Given the description of an element on the screen output the (x, y) to click on. 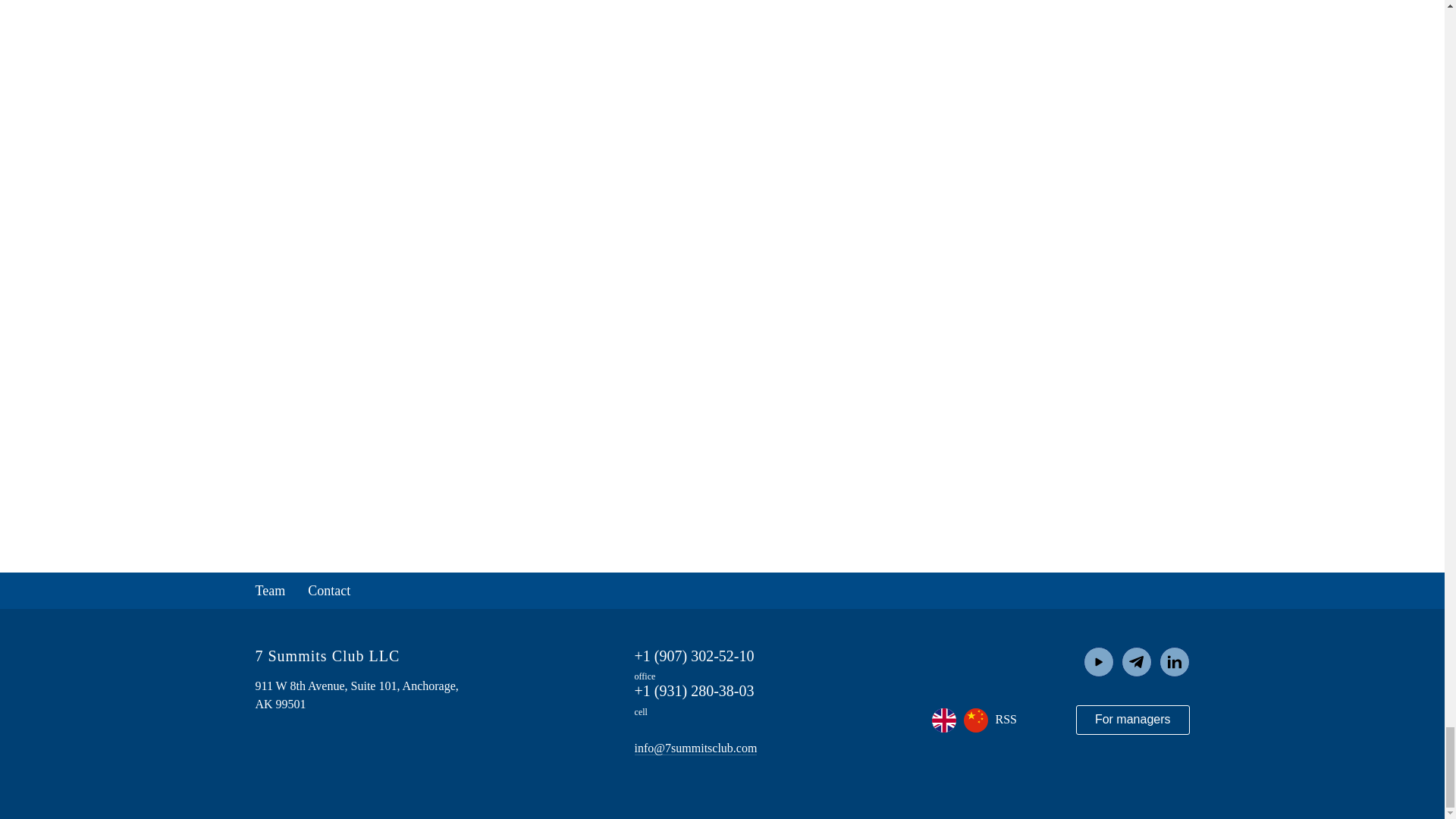
Contact (328, 590)
